Given the description of an element on the screen output the (x, y) to click on. 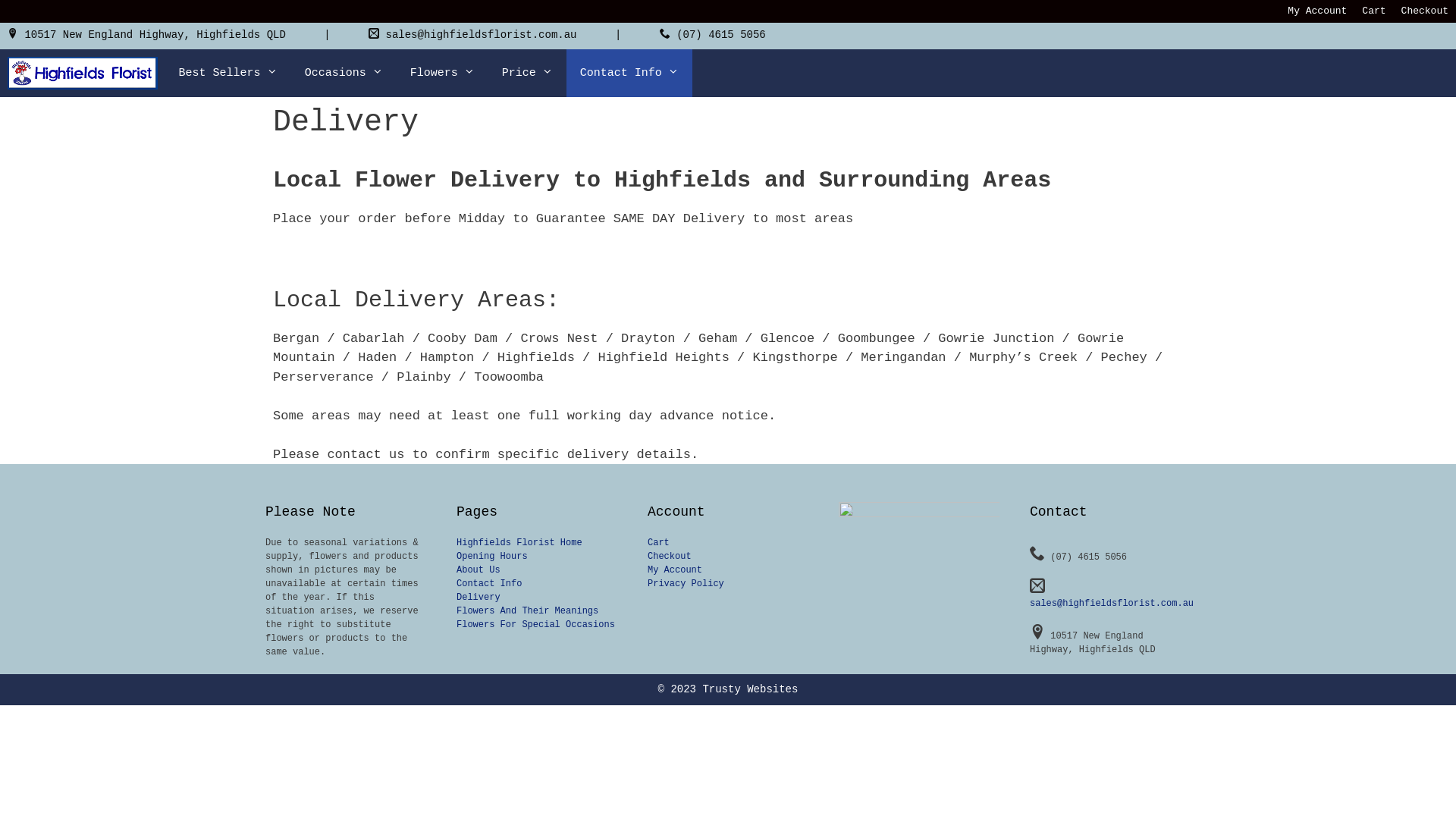
Trusty Websites Element type: text (749, 689)
Delivery Element type: text (478, 597)
Highfields Florist Element type: hover (82, 72)
Contact Info Element type: text (629, 72)
Best Sellers Element type: text (228, 72)
Privacy Policy Element type: text (685, 583)
Price Element type: text (527, 72)
About Us Element type: text (478, 569)
Cart Element type: text (658, 542)
Highfields Florist Home Element type: text (519, 542)
sales@highfieldsflorist.com.au Element type: text (1111, 603)
Flowers For Special Occasions Element type: text (535, 624)
Checkout Element type: text (669, 556)
Checkout Element type: text (1424, 10)
sales@highfieldsflorist.com.au Element type: text (480, 34)
Opening Hours Element type: text (491, 556)
My Account Element type: text (1316, 10)
Cart Element type: text (1373, 10)
Flowers And Their Meanings Element type: text (527, 610)
(07) 4615 5056 Element type: text (720, 34)
Occasions Element type: text (343, 72)
Contact Info Element type: text (488, 583)
Flowers Element type: text (442, 72)
My Account Element type: text (674, 569)
